Given the description of an element on the screen output the (x, y) to click on. 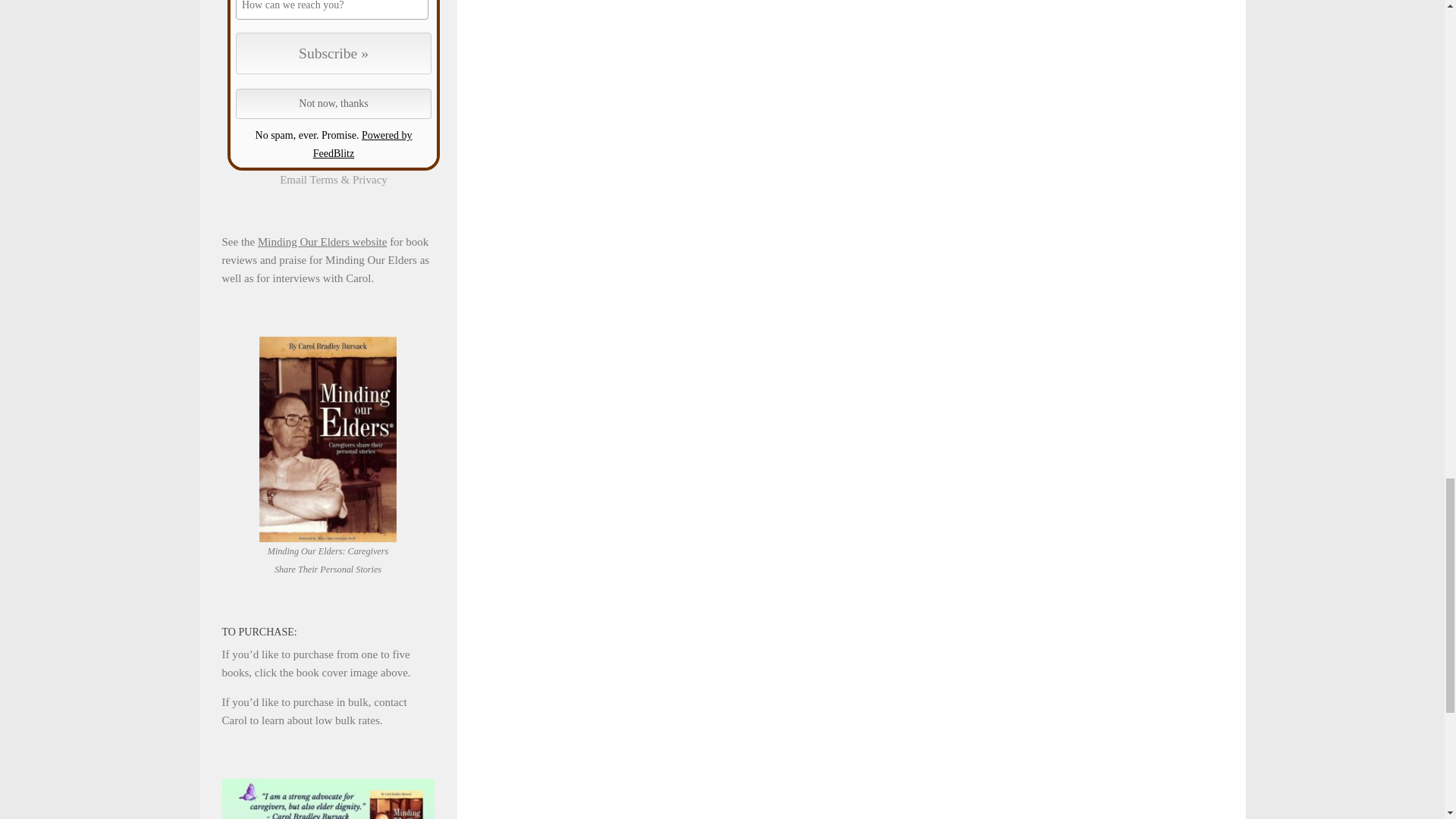
Email subscriptions terms of service (323, 179)
click to join (332, 53)
Not now, thanks (332, 103)
How can we reach you? (331, 10)
Hide this form for now (332, 103)
Email subscriptions privacy policy (369, 179)
